Given the description of an element on the screen output the (x, y) to click on. 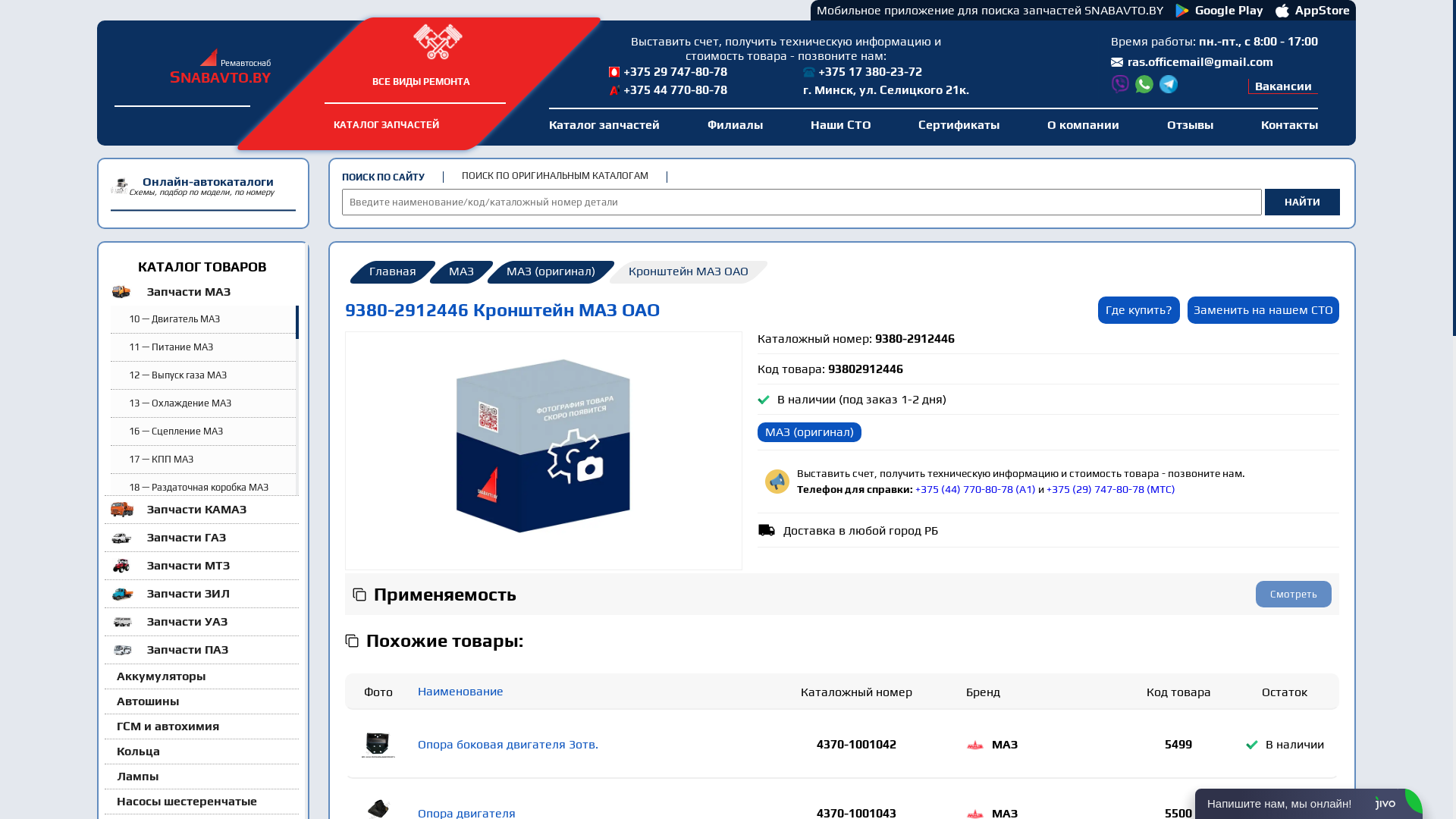
+375 44 770-80-78 Element type: text (688, 90)
+375 (44) 770-80-78 (A1) Element type: text (975, 489)
+375 29 747-80-78 Element type: text (688, 71)
AppStore Element type: text (1312, 9)
Google Play Element type: text (1219, 9)
+375 17 380-23-72 Element type: text (883, 71)
